Given the description of an element on the screen output the (x, y) to click on. 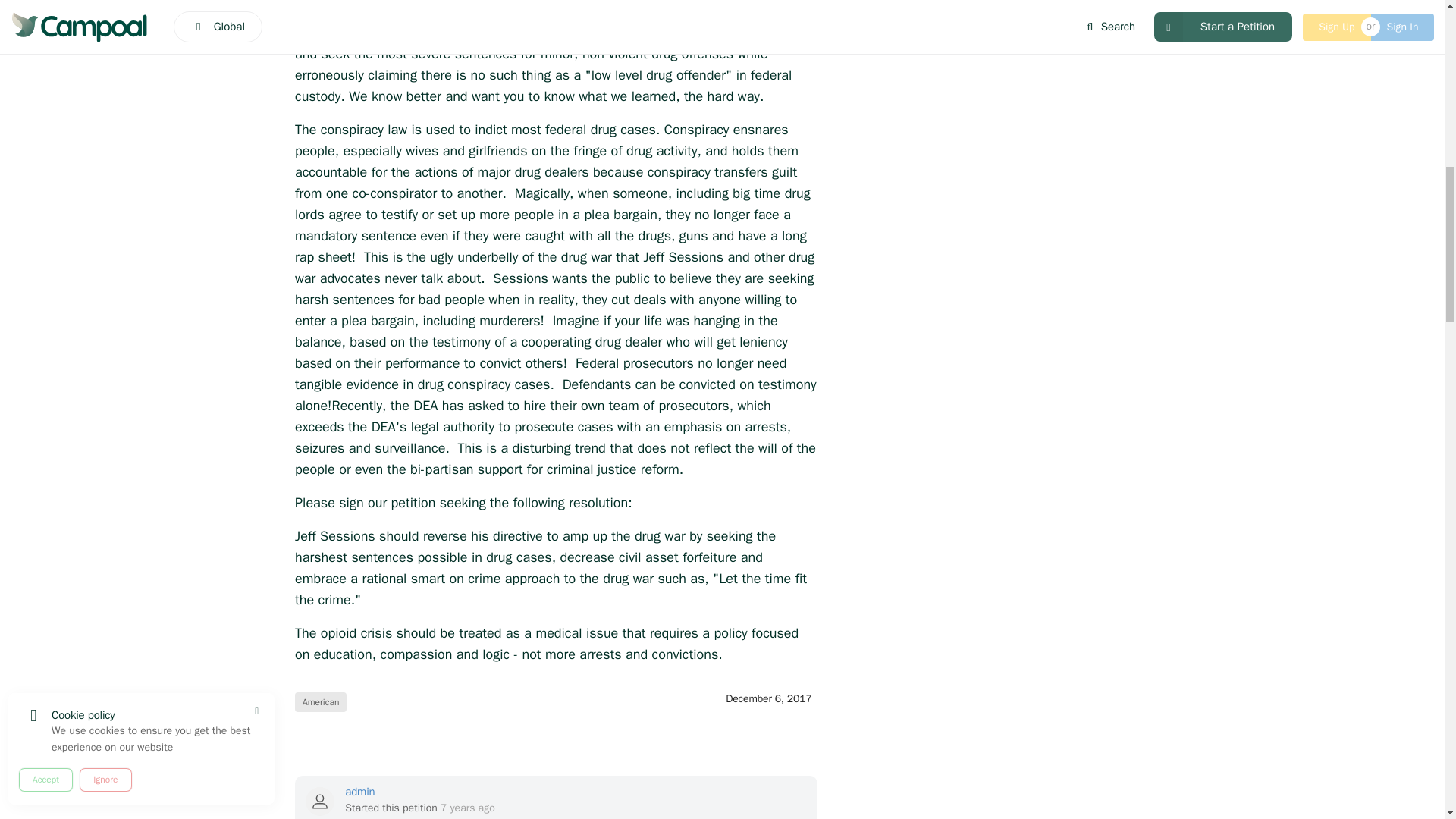
admin (420, 791)
American (320, 701)
